Given the description of an element on the screen output the (x, y) to click on. 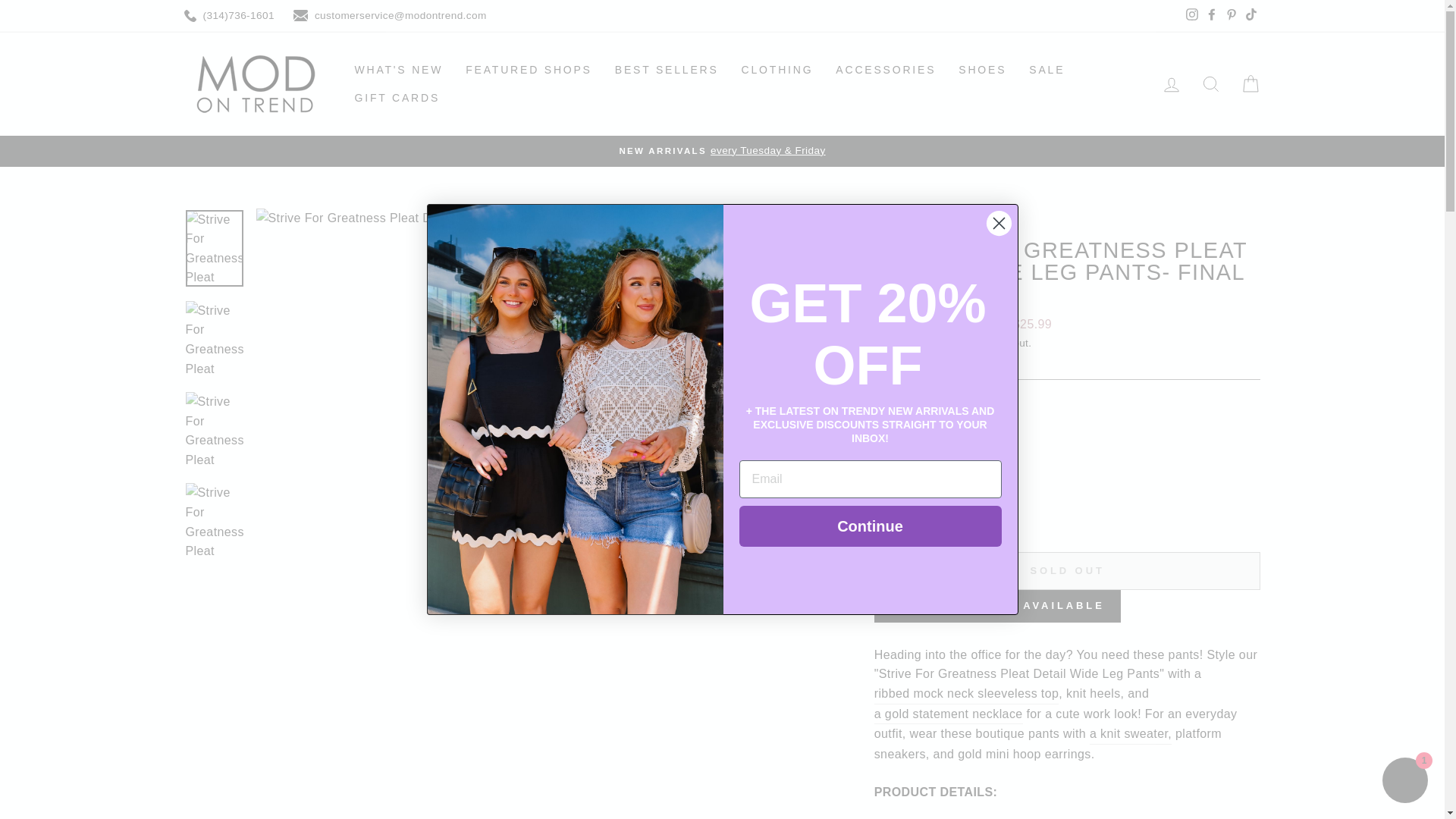
Back to the frontpage (888, 224)
